Given the description of an element on the screen output the (x, y) to click on. 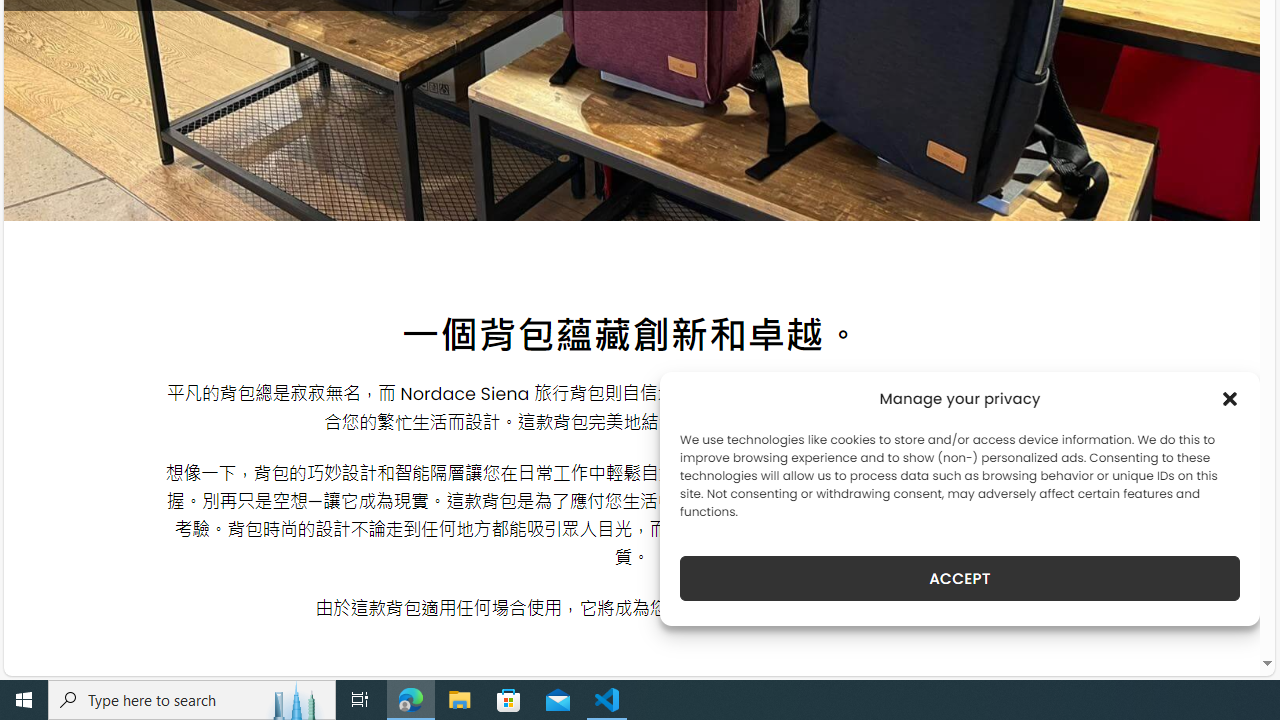
Class: cmplz-close (1229, 398)
ACCEPT (959, 578)
